Given the description of an element on the screen output the (x, y) to click on. 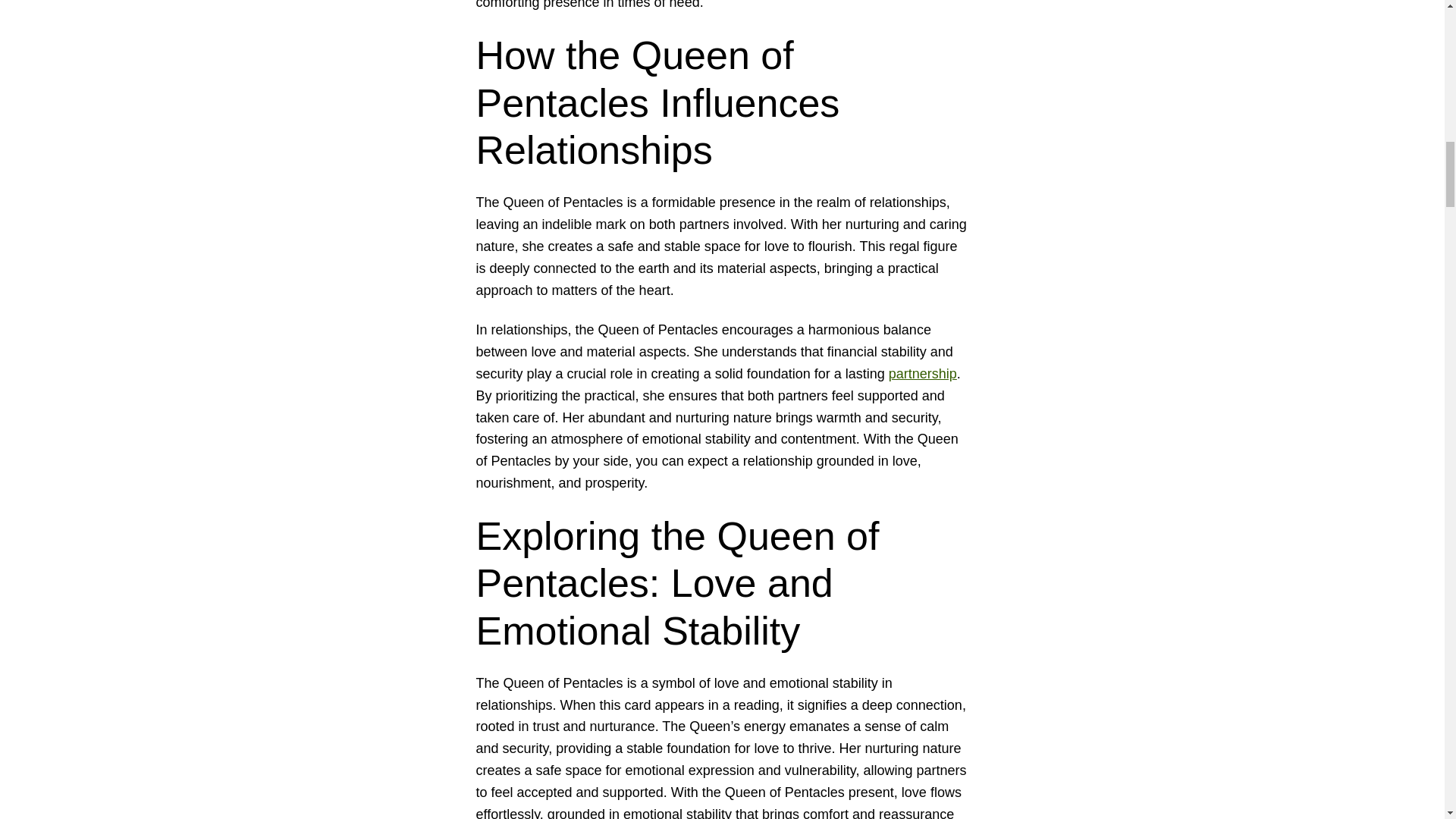
Partnership Posts (922, 373)
partnership (922, 373)
